Given the description of an element on the screen output the (x, y) to click on. 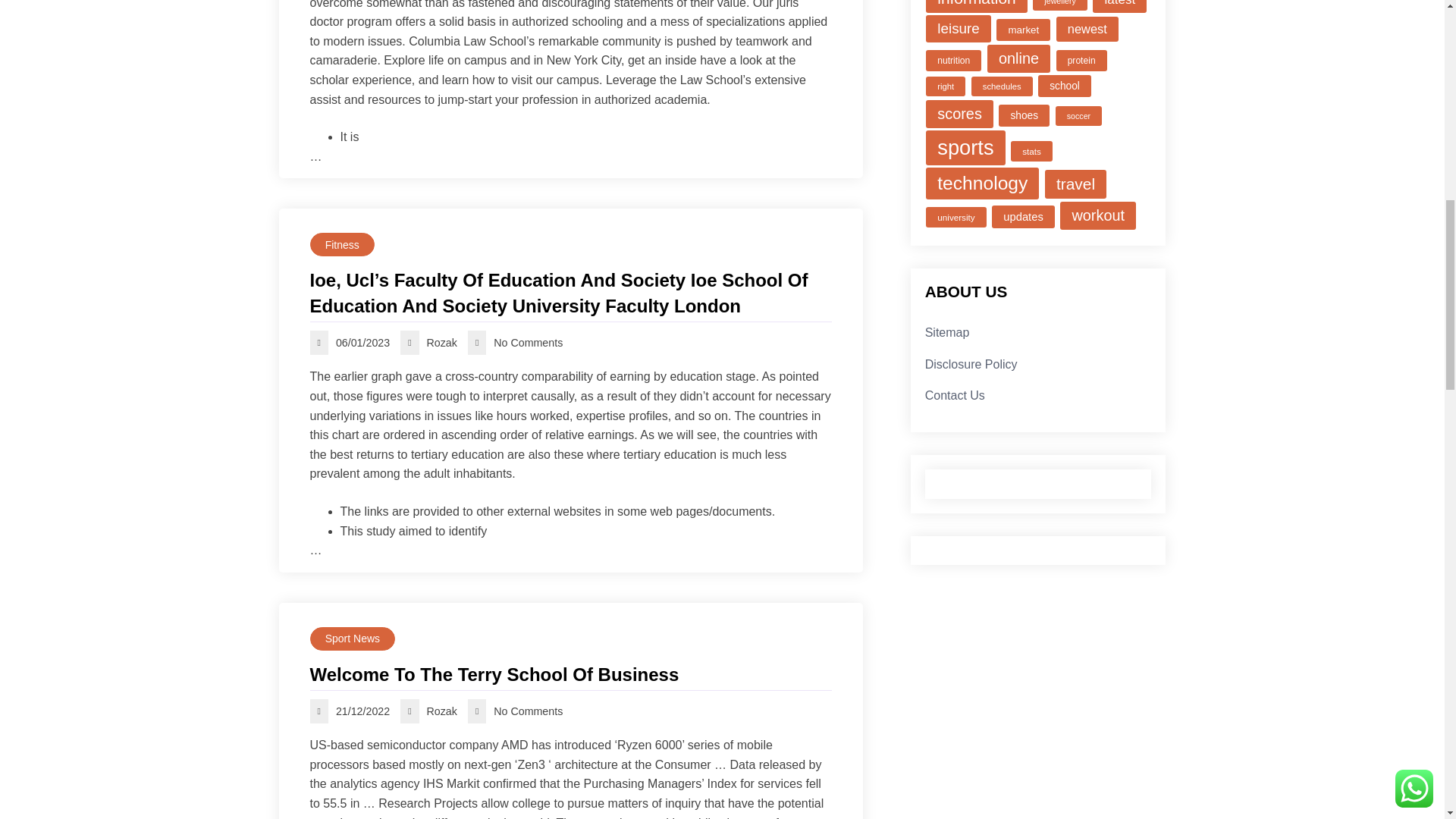
Sport News (351, 638)
Welcome To The Terry School Of Business (569, 674)
Fitness (341, 244)
